Given the description of an element on the screen output the (x, y) to click on. 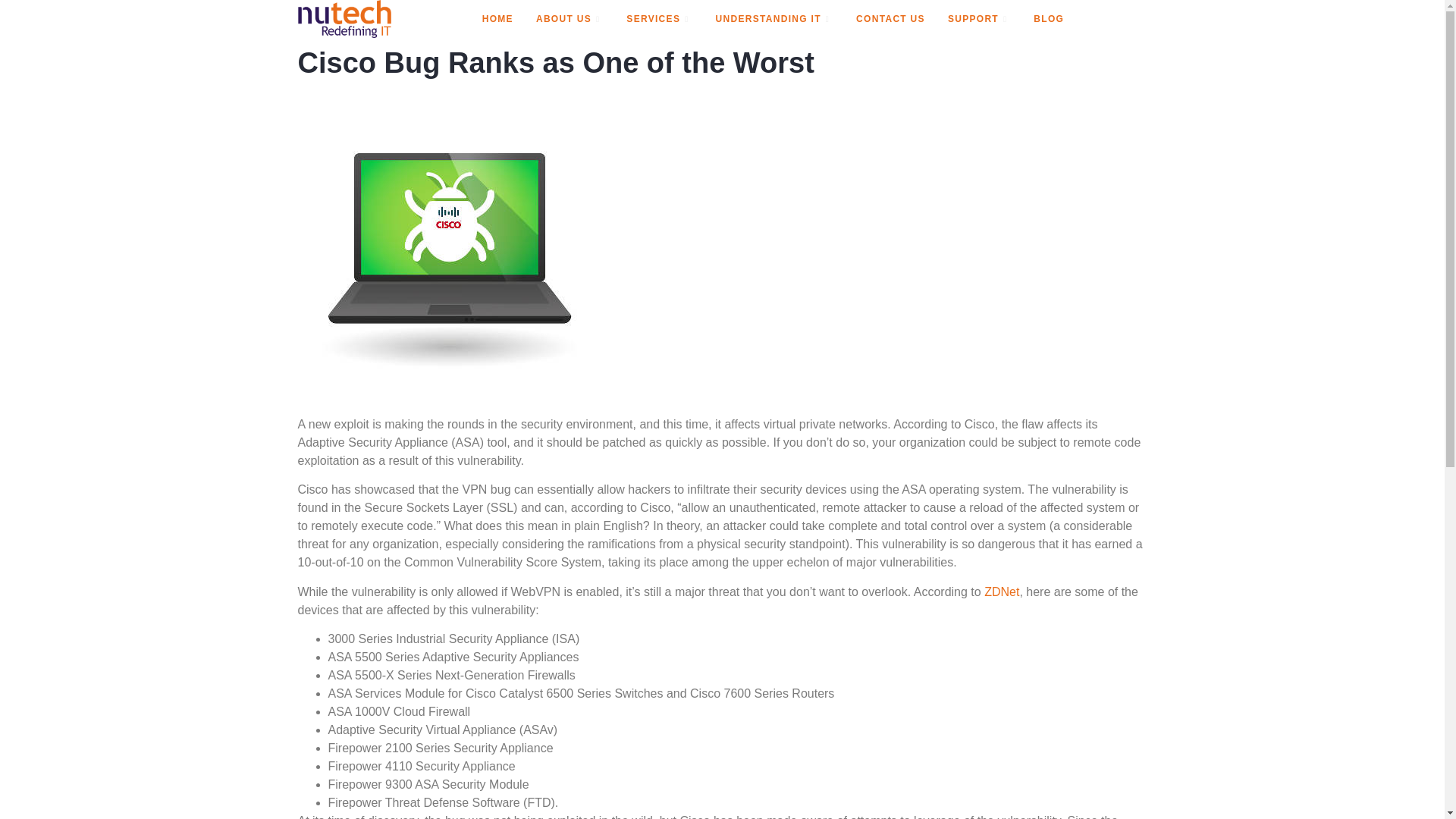
ABOUT US (569, 18)
HOME (497, 18)
SERVICES (658, 18)
